Given the description of an element on the screen output the (x, y) to click on. 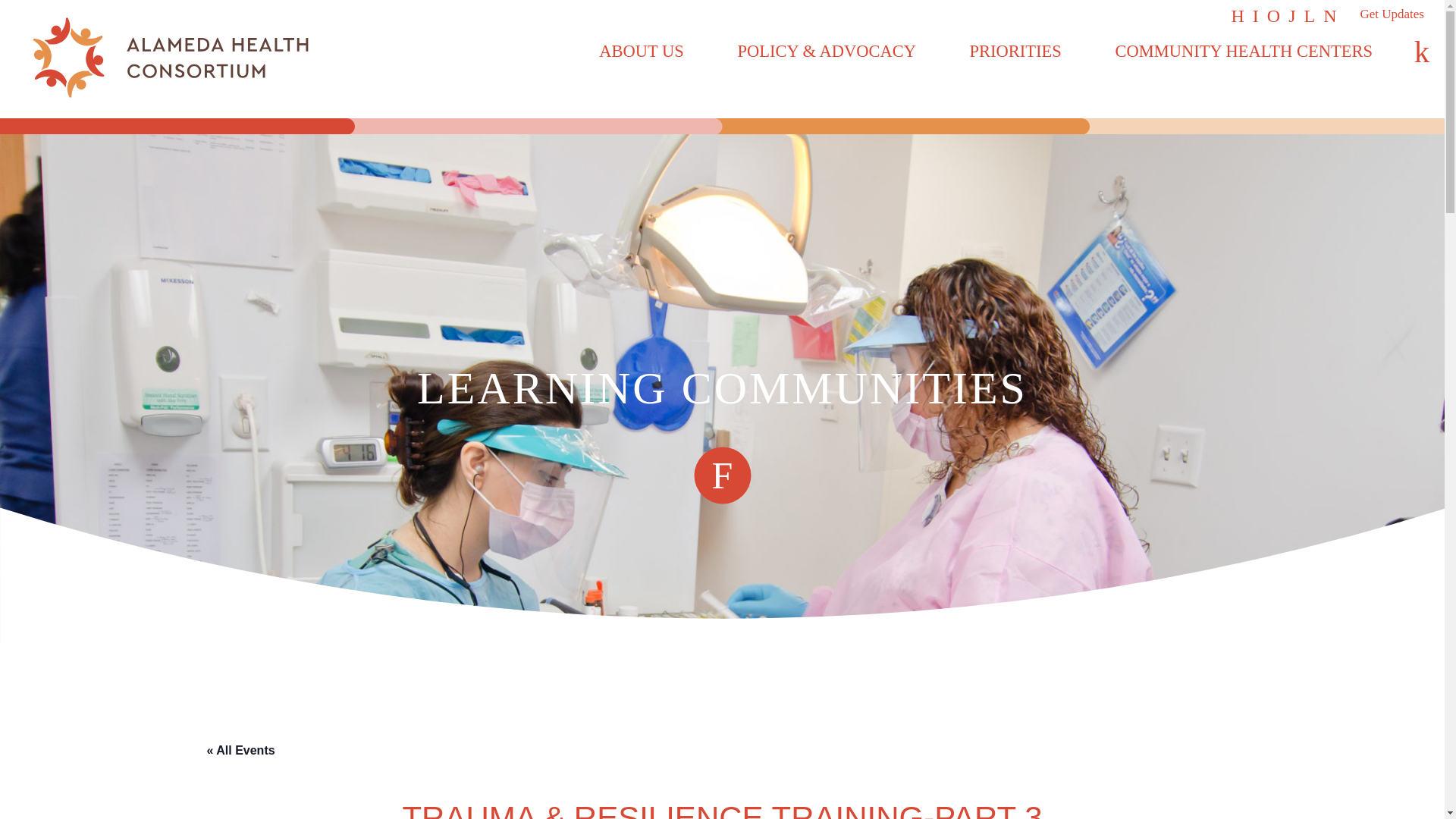
COMMUNITY HEALTH CENTERS (1243, 51)
PRIORITIES (1015, 51)
ABOUT US (640, 51)
About Us (640, 51)
